Given the description of an element on the screen output the (x, y) to click on. 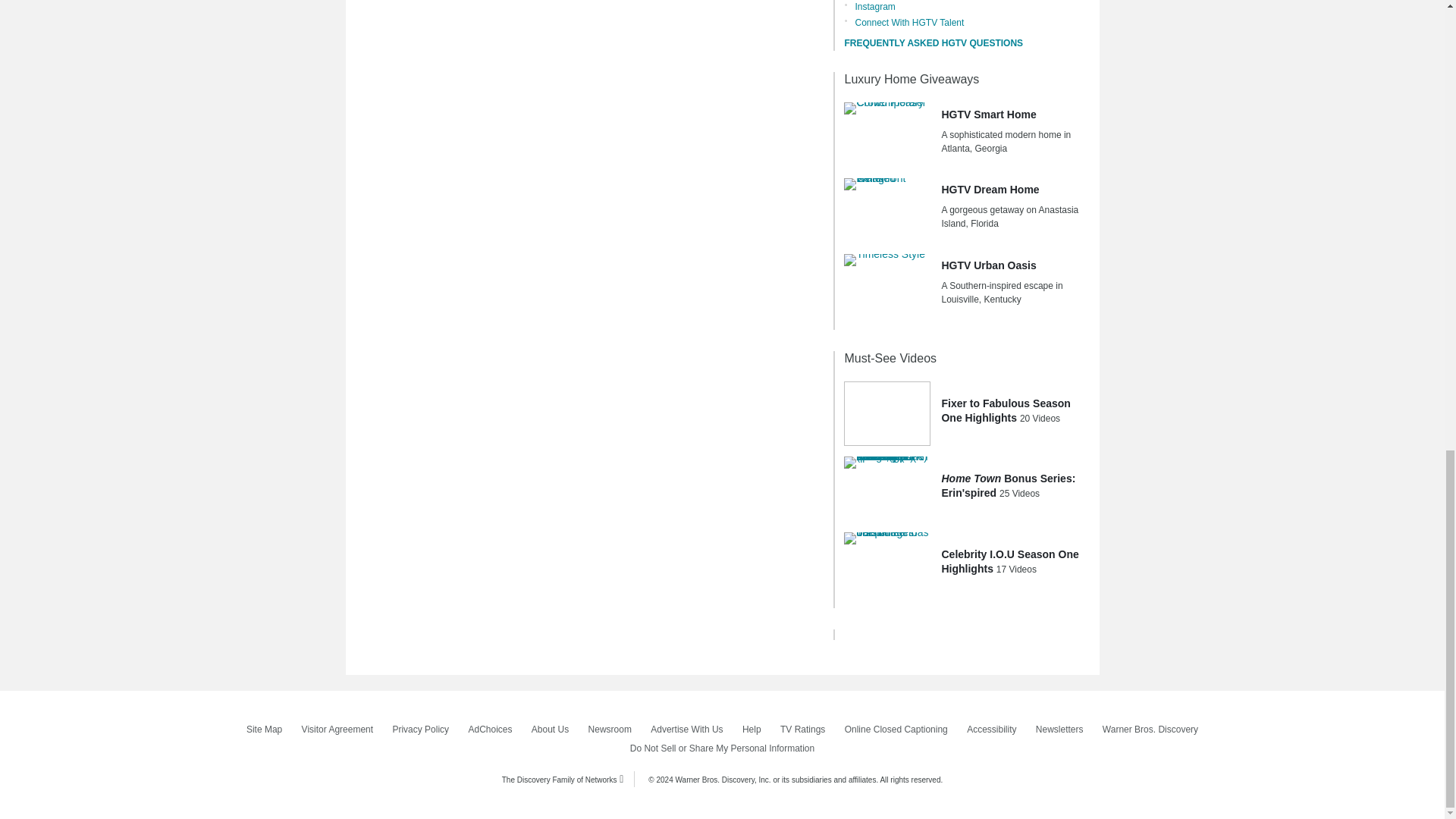
Fixer to Fabulous Season One Highlights (887, 413)
HGTV Urban Oasis (887, 286)
Celebrity I.O.U Season One Highlights (887, 564)
HGTV Smart Home (887, 134)
HGTV Dream Home (887, 210)
